Given the description of an element on the screen output the (x, y) to click on. 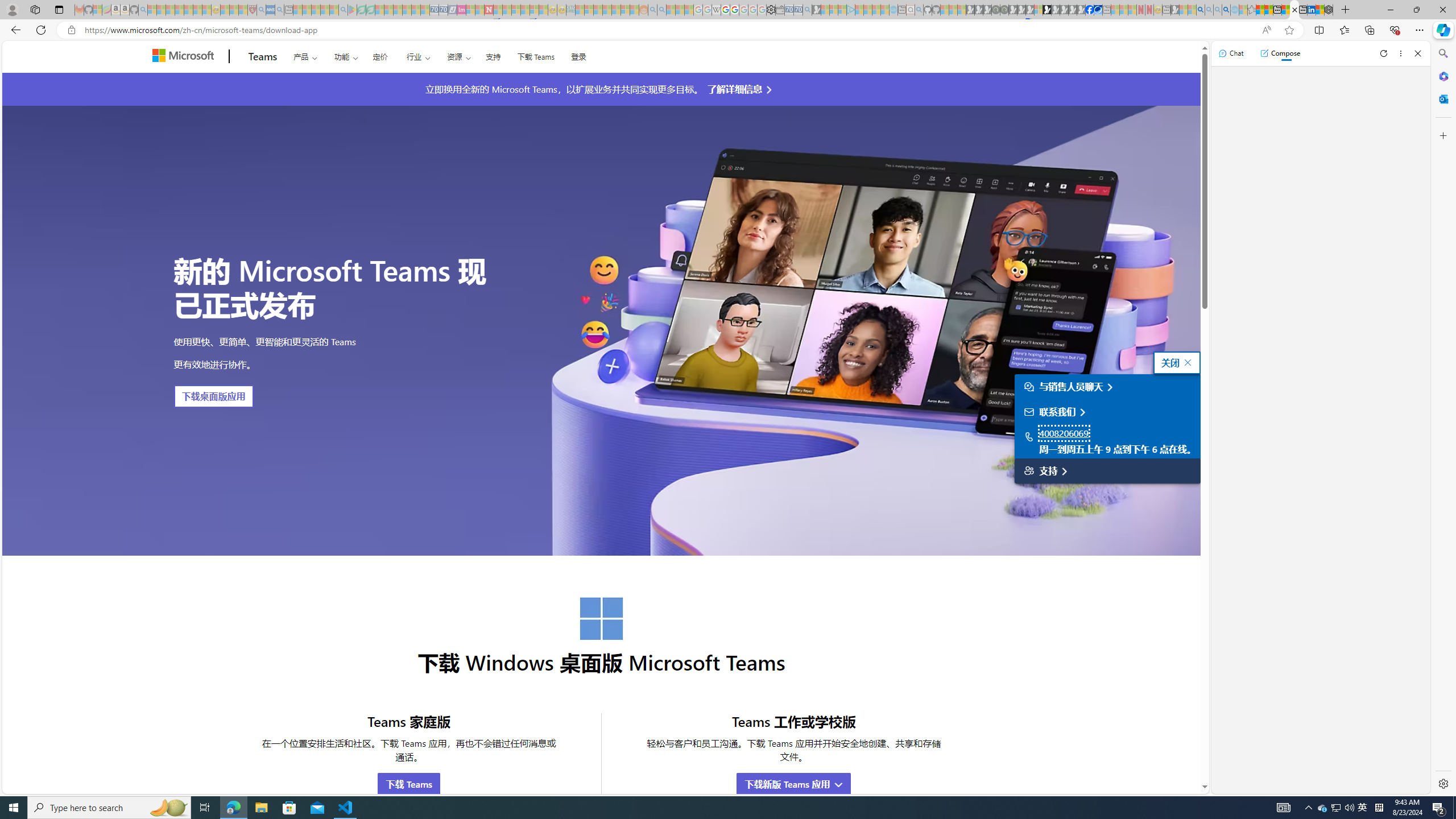
Jobs - lastminute.com Investor Portal - Sleeping (461, 9)
Teams (262, 56)
